Given the description of an element on the screen output the (x, y) to click on. 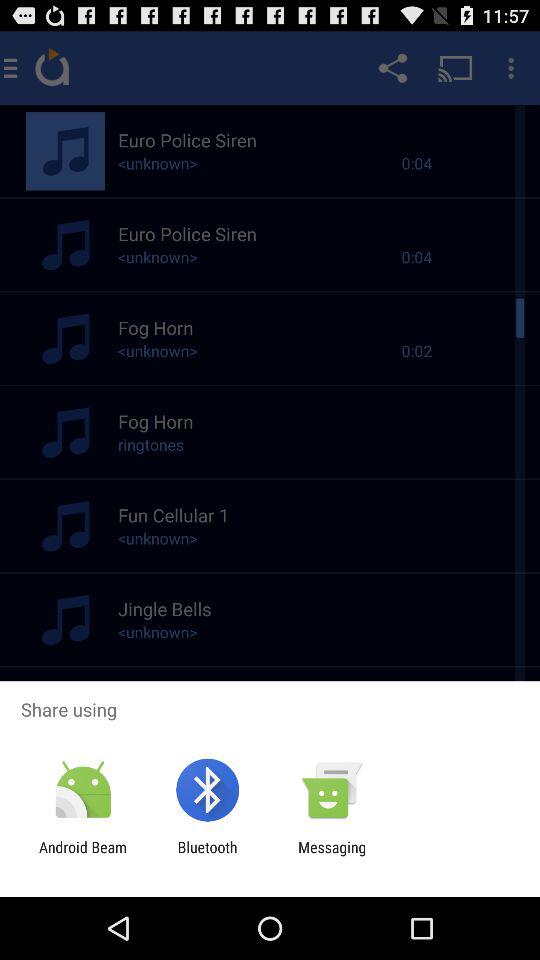
open android beam item (83, 856)
